Given the description of an element on the screen output the (x, y) to click on. 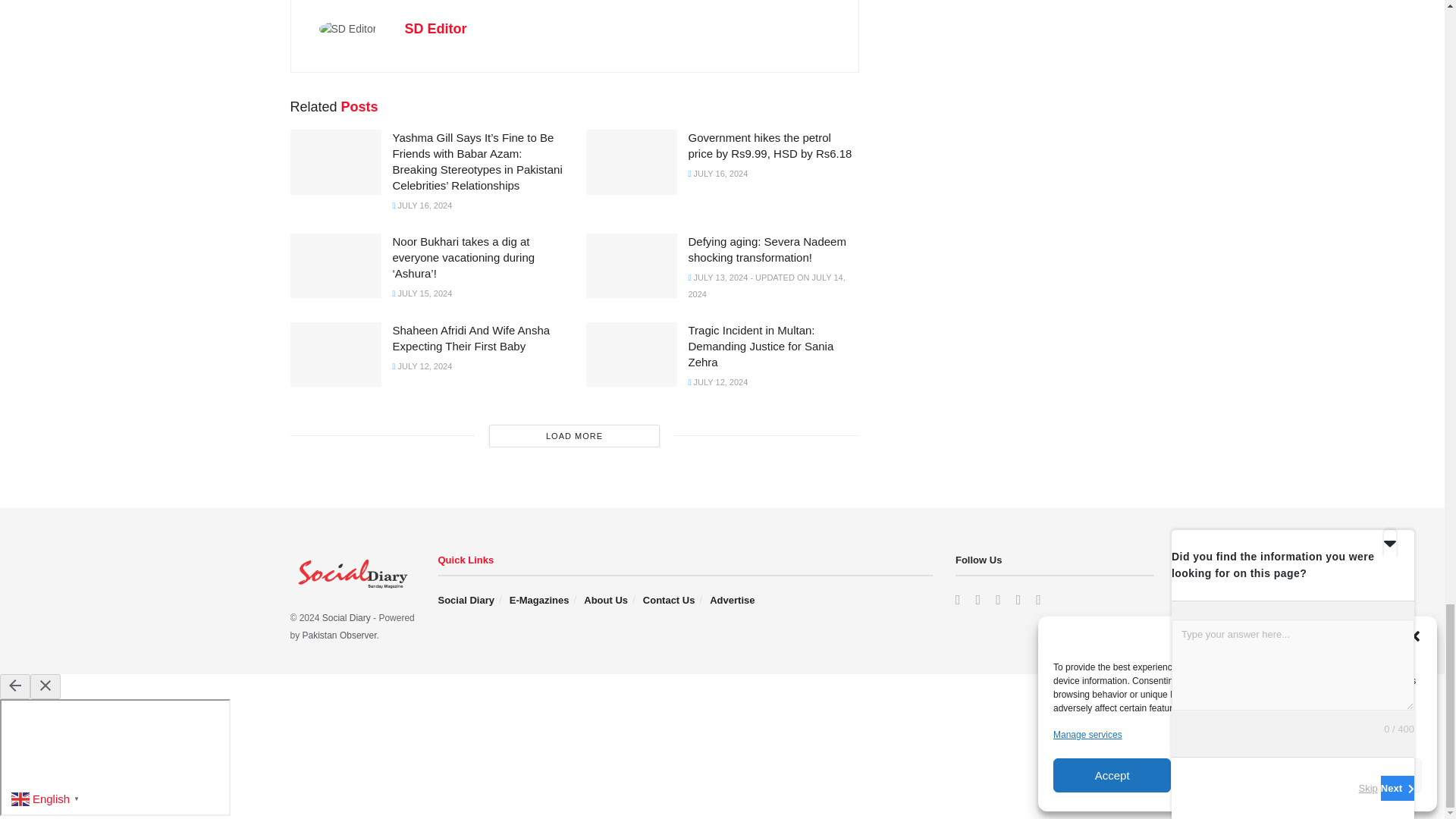
Webmaster (339, 634)
